Given the description of an element on the screen output the (x, y) to click on. 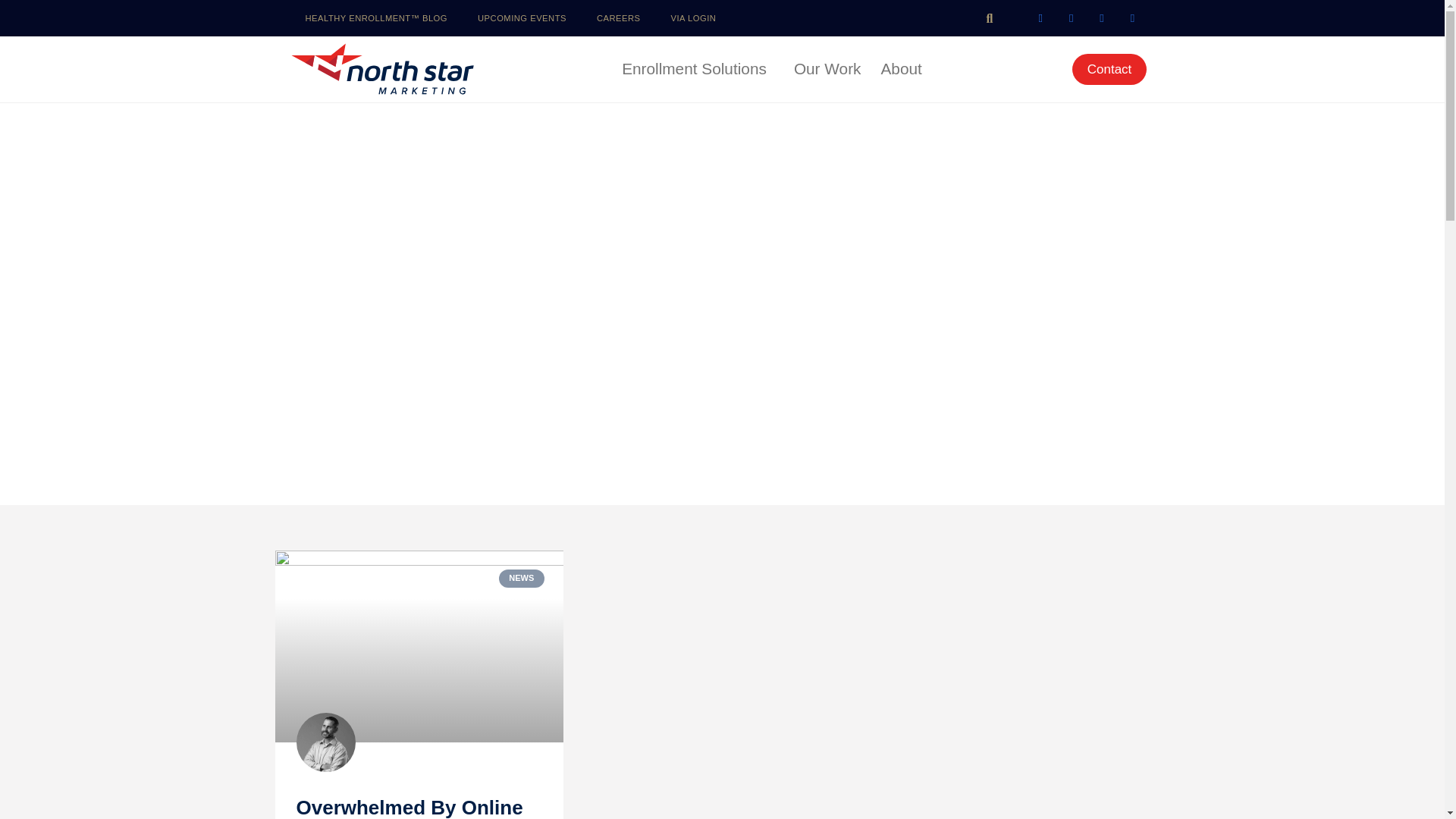
VIA LOGIN (694, 17)
Contact (1109, 69)
Enrollment Solutions (697, 69)
UPCOMING EVENTS (521, 17)
CAREERS (618, 17)
About (904, 69)
Our Work (827, 69)
